Given the description of an element on the screen output the (x, y) to click on. 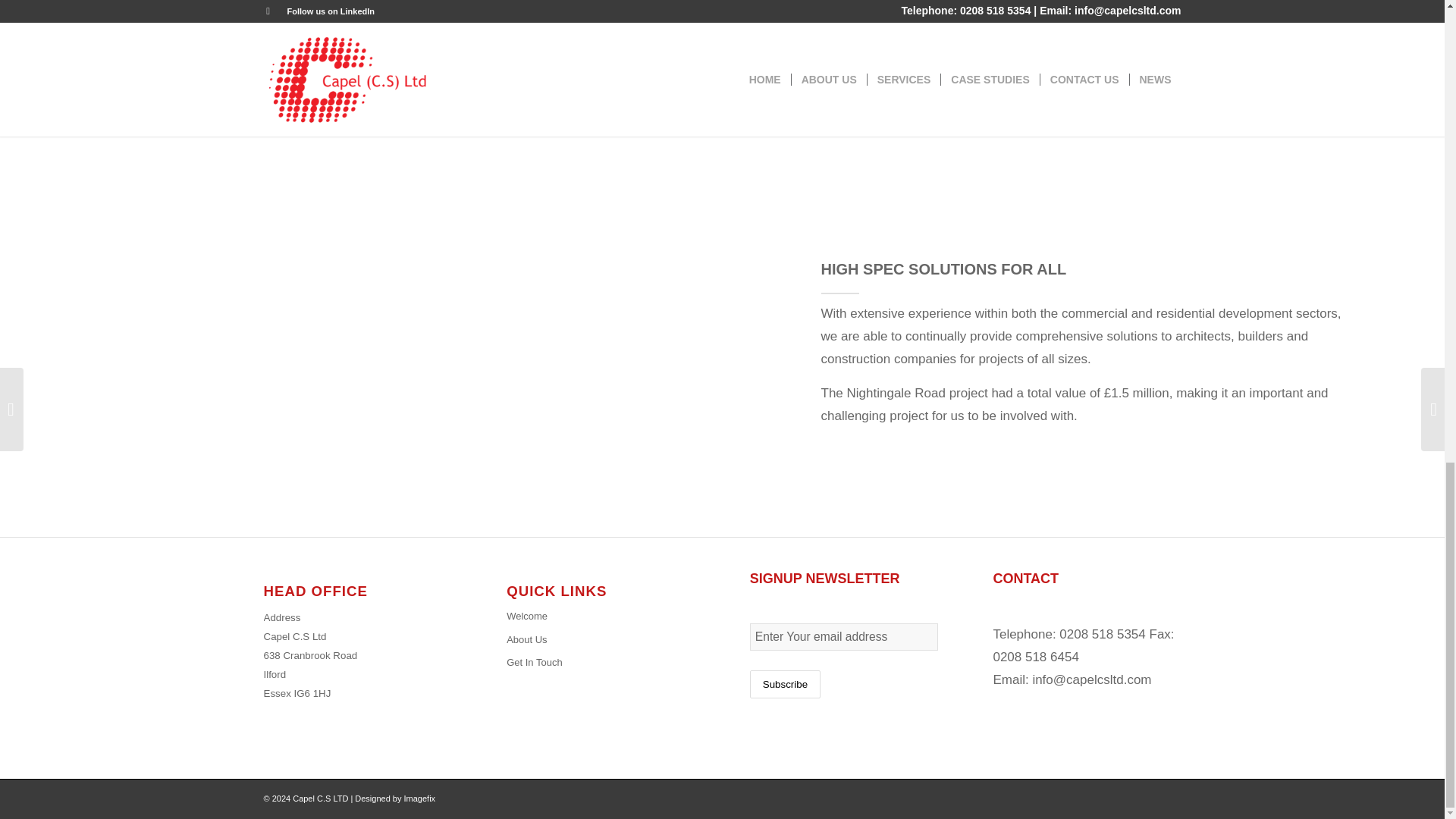
Get In Touch (600, 662)
Subscribe (785, 684)
Subscribe (785, 684)
Welcome (600, 616)
Imagefix (419, 798)
About Us (600, 639)
